Given the description of an element on the screen output the (x, y) to click on. 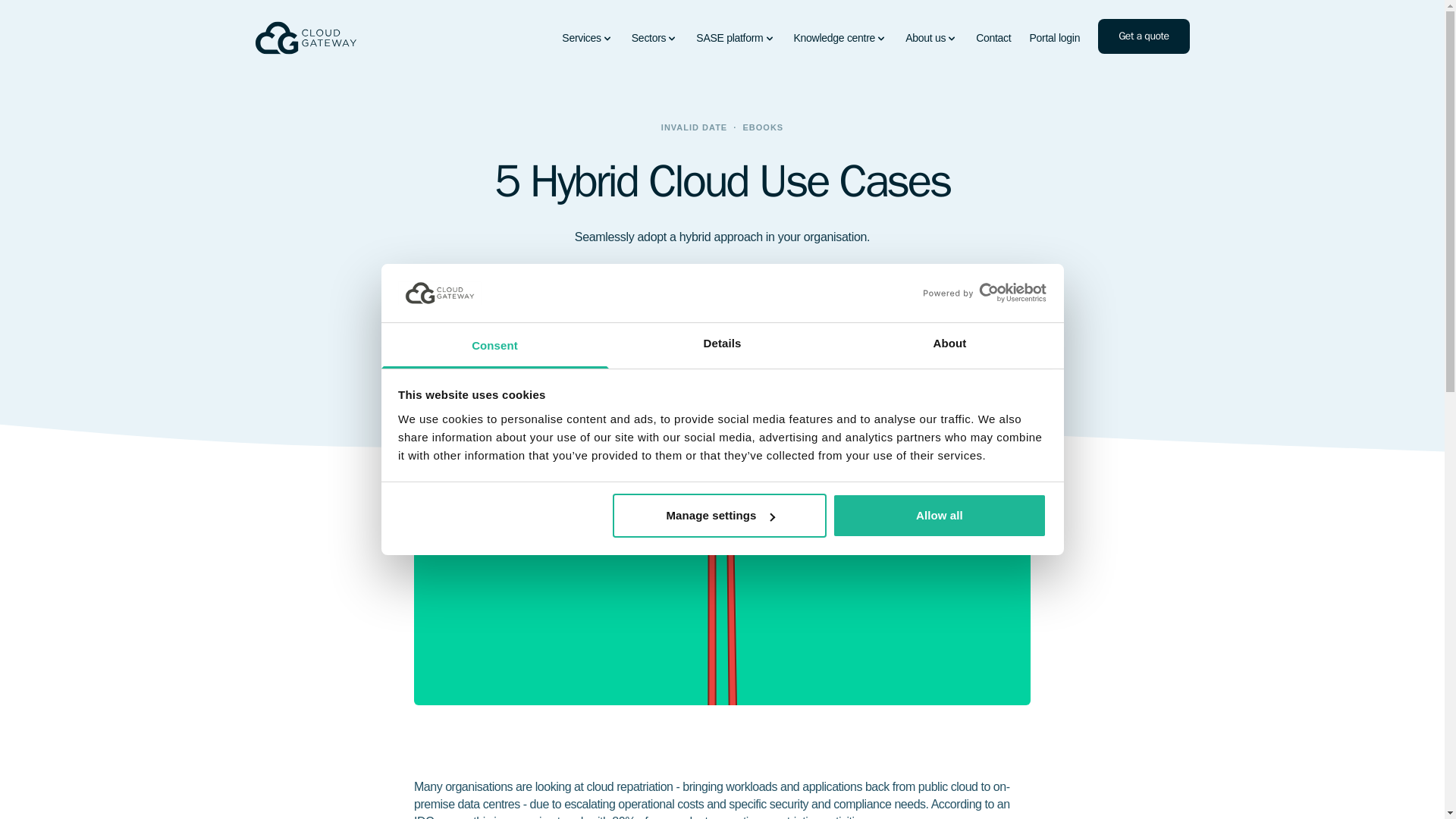
Details (721, 345)
About (948, 345)
Consent (494, 345)
